Given the description of an element on the screen output the (x, y) to click on. 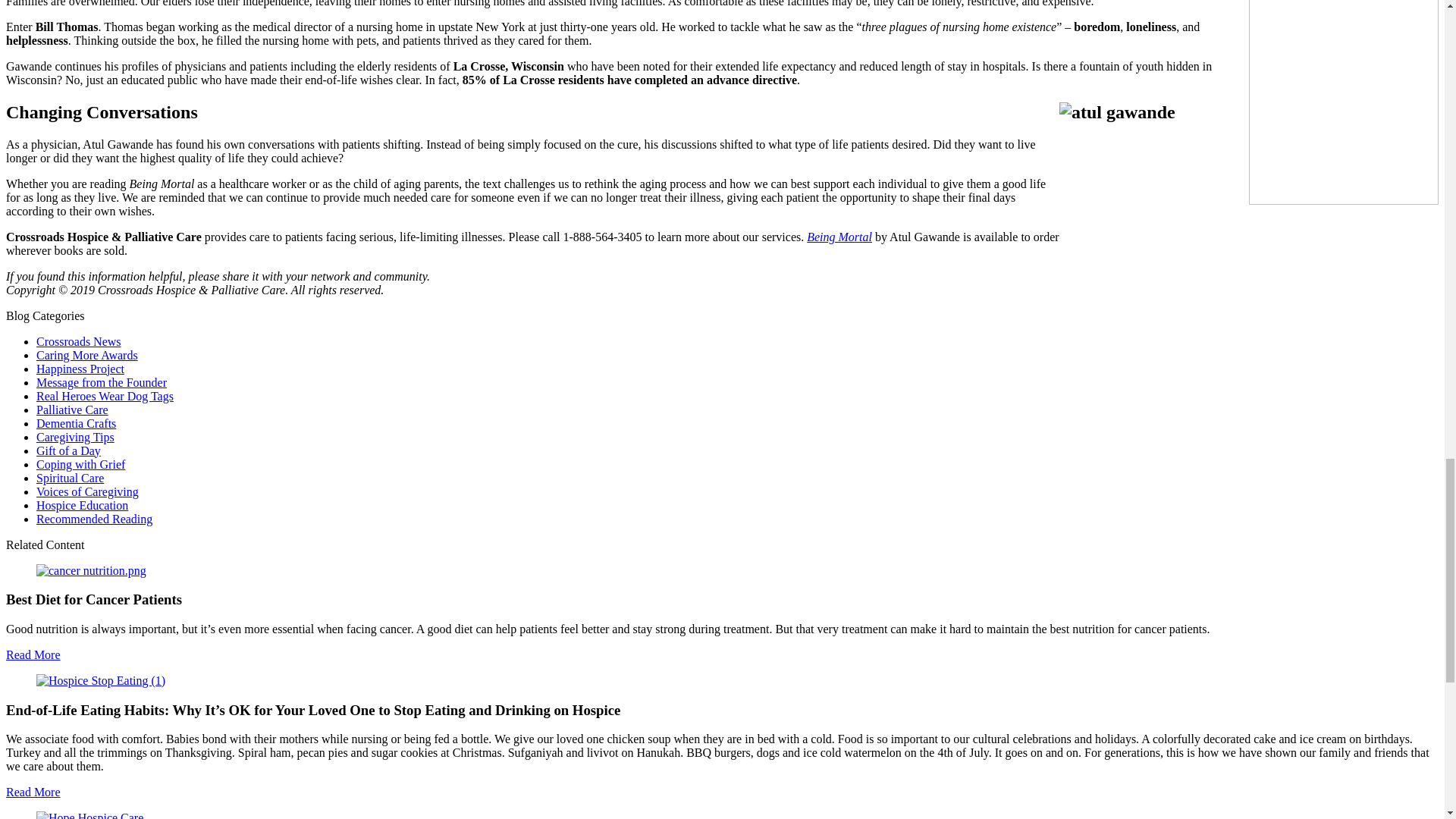
Spiritual Care (69, 477)
Crossroads News (78, 341)
Voices of Caregiving (87, 491)
Gift of a Day (68, 450)
Happiness Project (79, 368)
Palliative Care (71, 409)
Caregiving Tips (75, 436)
Message from the Founder (101, 382)
Real Heroes Wear Dog Tags (104, 395)
Recommended Reading (94, 518)
Coping with Grief (80, 463)
Caring More Awards (87, 354)
Dementia Crafts (76, 422)
Hospice Education (82, 504)
